Given the description of an element on the screen output the (x, y) to click on. 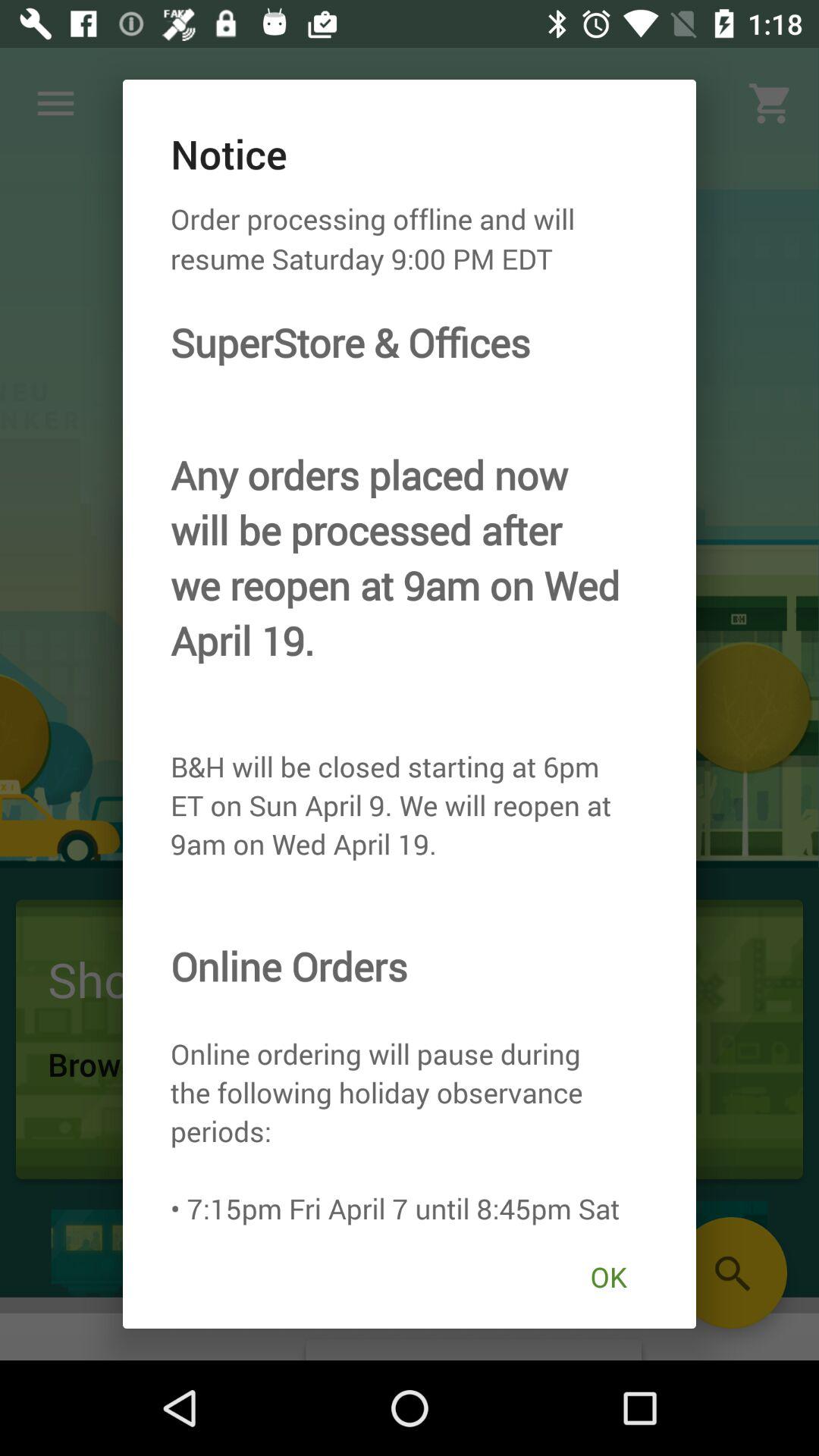
open ok icon (608, 1276)
